Given the description of an element on the screen output the (x, y) to click on. 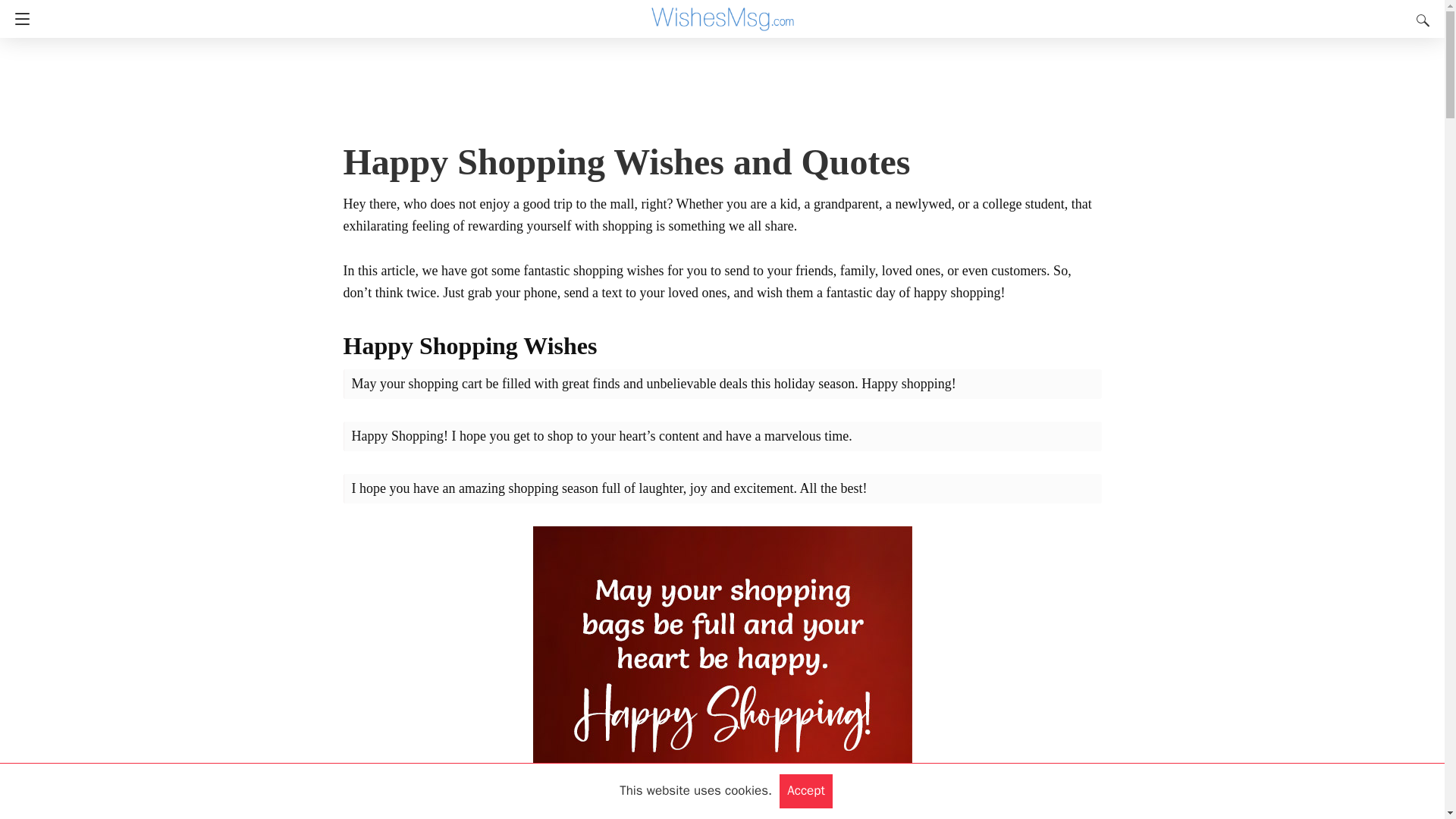
3rd party ad content (716, 90)
back to top (1410, 784)
Accept (805, 790)
WishesMsg (722, 12)
